Given the description of an element on the screen output the (x, y) to click on. 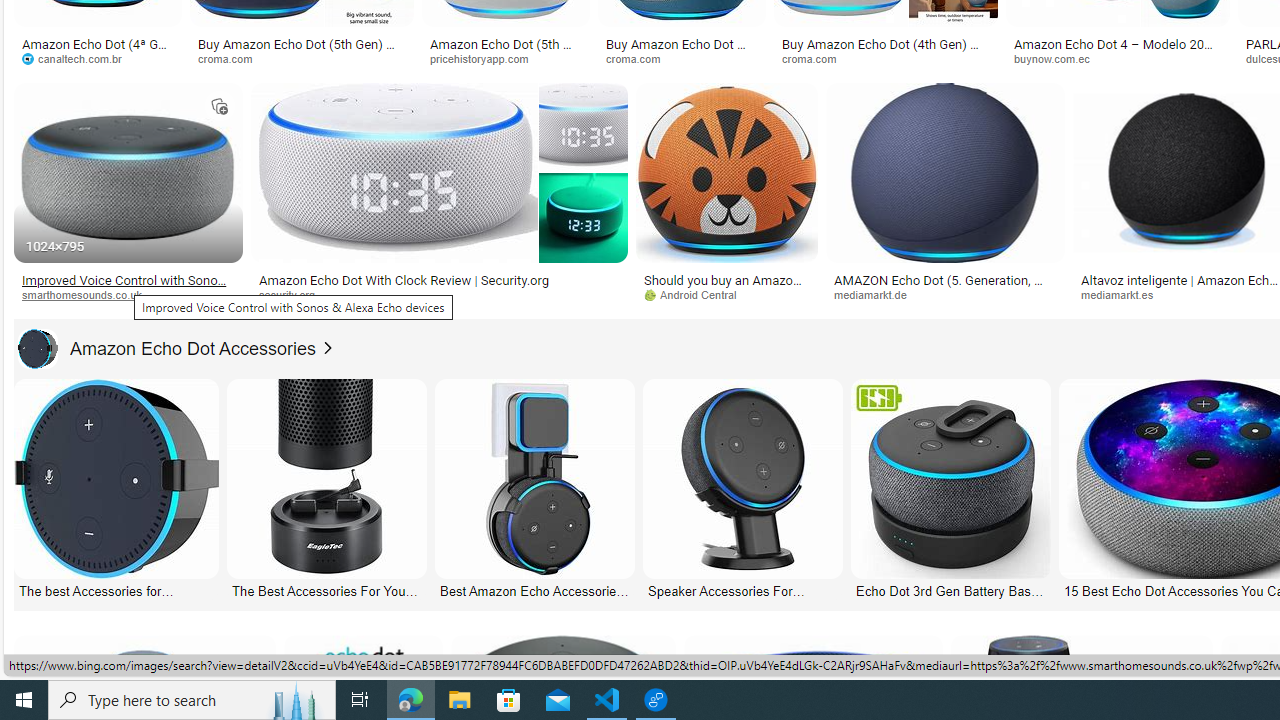
mediamarkt.es (1124, 294)
security.org (438, 295)
mediamarkt.de (945, 295)
croma.com (816, 57)
buynow.com.ec (1117, 58)
